Given the description of an element on the screen output the (x, y) to click on. 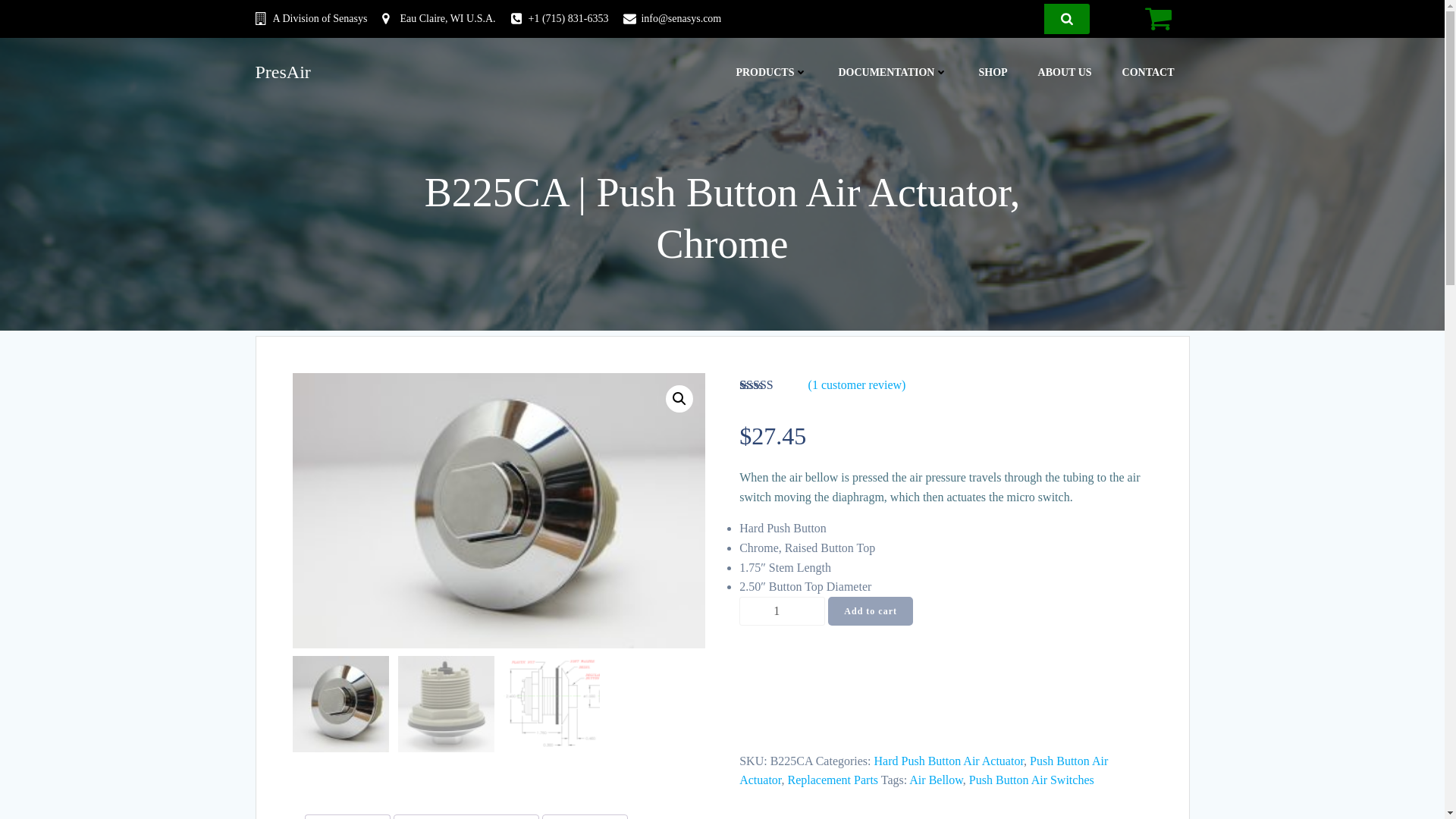
PayPal Message 1 (945, 673)
DOCUMENTATION (892, 71)
B225CA Push Button Air Acutator, Chrome (498, 510)
1 (782, 611)
CONTACT (1148, 71)
PayPal (945, 719)
Hard Push Button Air Actuator (950, 760)
ABOUT US (1065, 71)
B225CA Push Button Air Switch (911, 510)
PresAir (282, 71)
Push Button Air Switches (1031, 779)
Air Bellow (935, 779)
Replacement Parts (833, 779)
Add to cart (870, 611)
PRODUCTS (771, 71)
